Given the description of an element on the screen output the (x, y) to click on. 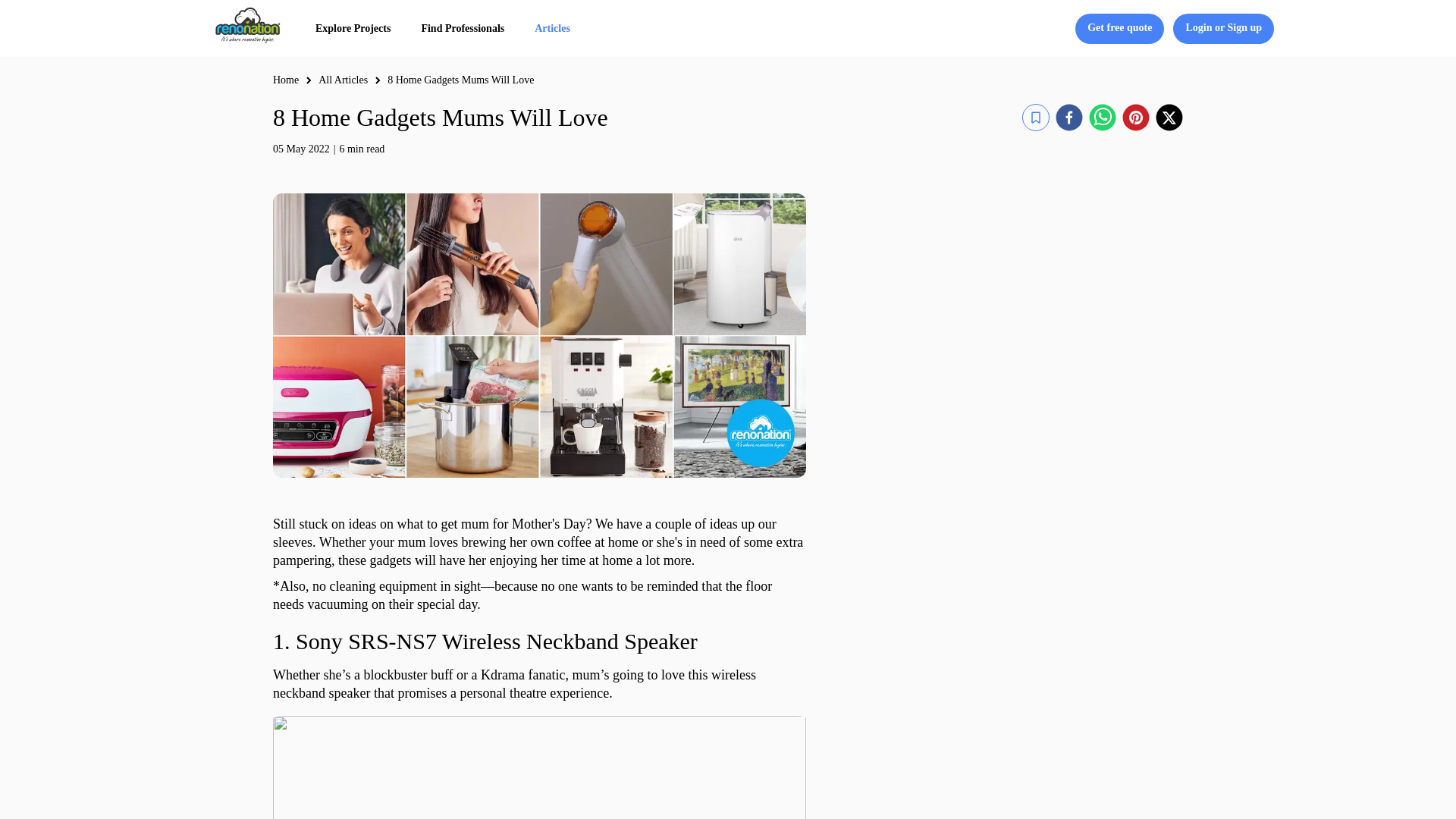
Find Professionals (461, 28)
Login or Sign up (1223, 28)
All Articles (343, 79)
Home (285, 79)
Get free quote (1119, 28)
Articles (552, 28)
Explore Projects (352, 28)
